Given the description of an element on the screen output the (x, y) to click on. 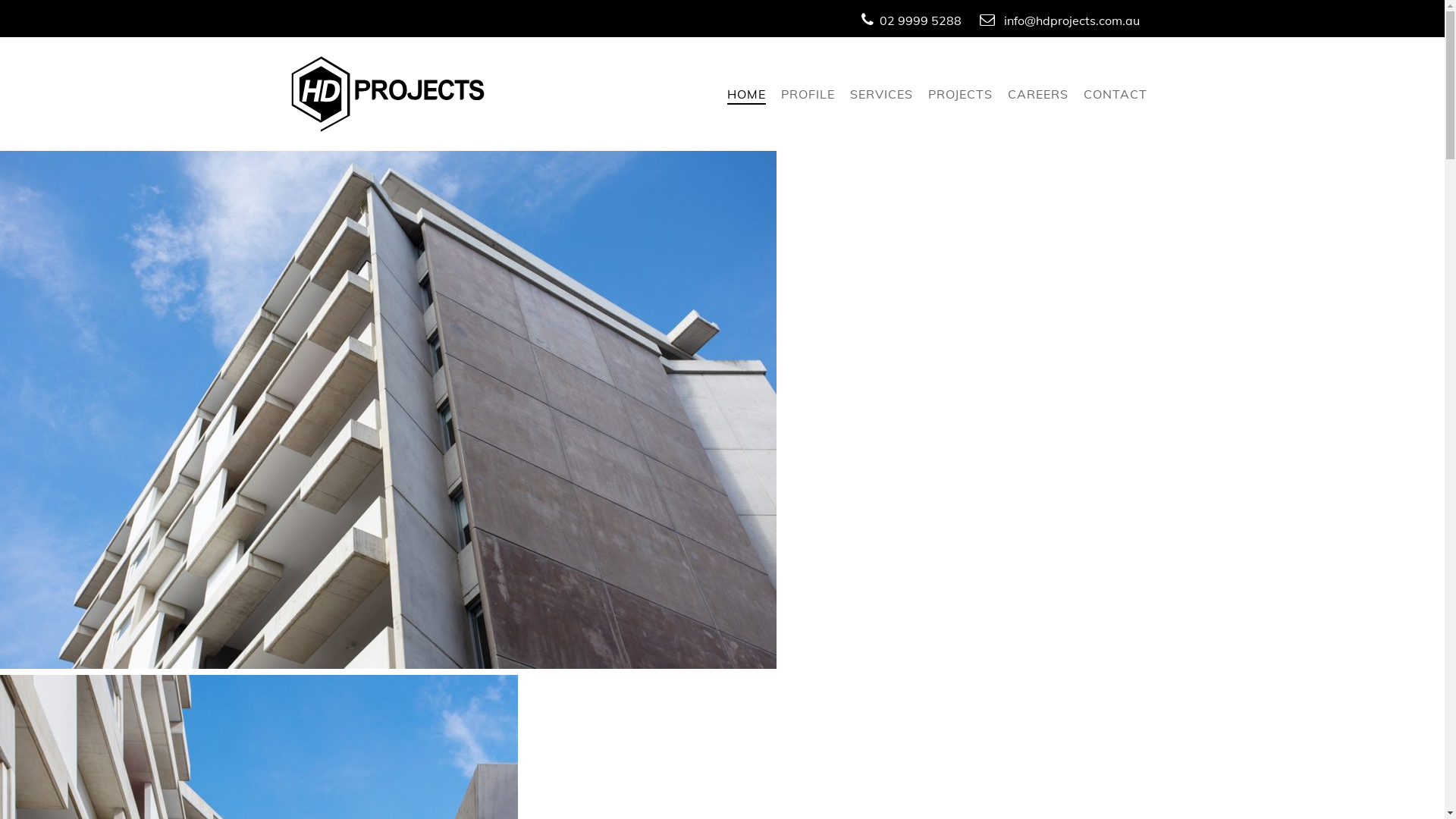
HOME Element type: text (745, 95)
info@hdprojects.com.au Element type: text (1071, 20)
SERVICES Element type: text (880, 95)
CAREERS Element type: text (1037, 95)
CONTACT Element type: text (1114, 95)
02 9999 5288 Element type: text (920, 20)
SILKY, NORTH ROCKS RD Element type: text (722, 412)
PROFILE Element type: text (807, 95)
PROJECTS Element type: text (960, 95)
